Given the description of an element on the screen output the (x, y) to click on. 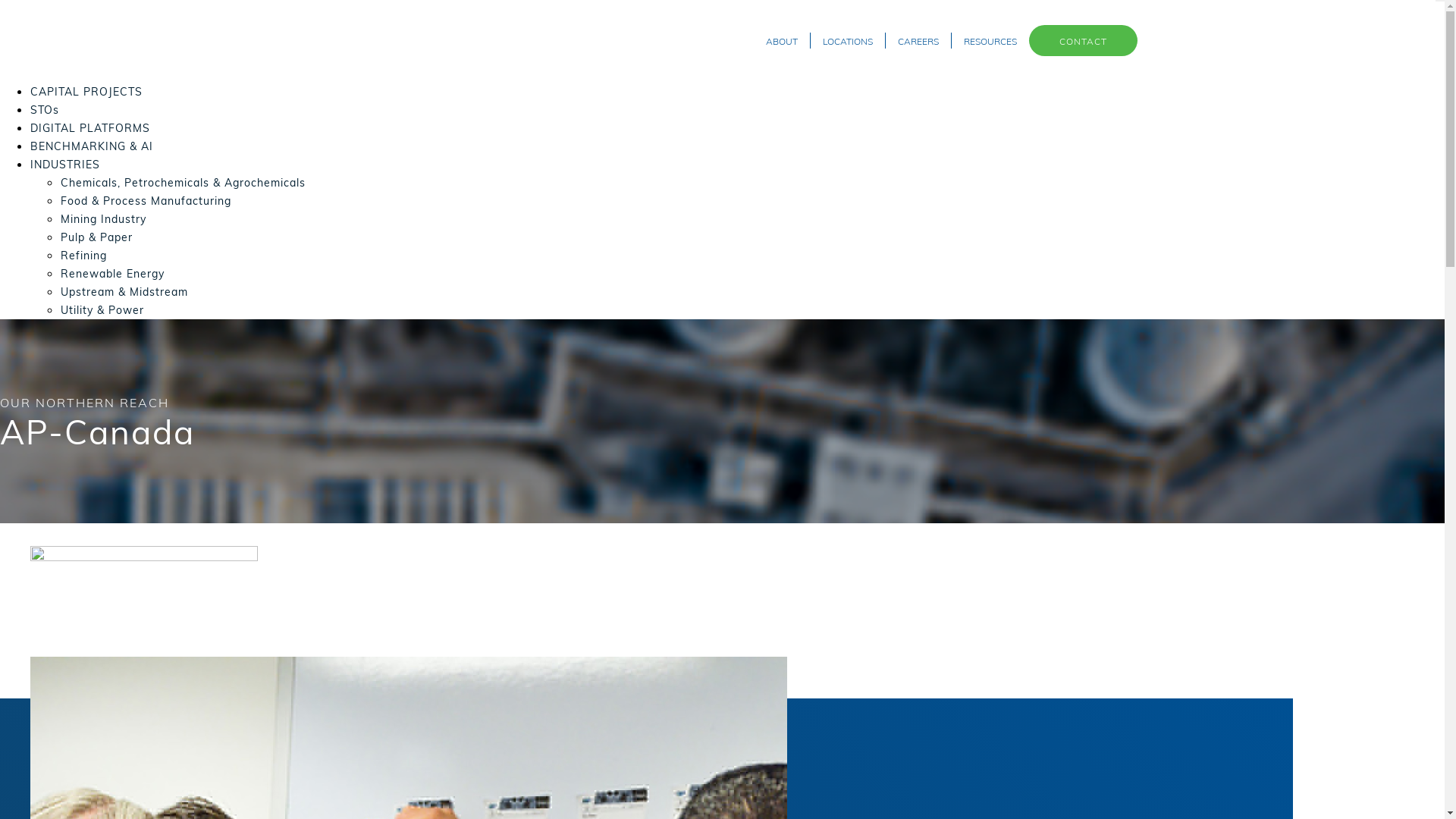
DIGITAL PLATFORMS Element type: text (90, 127)
INDUSTRIES Element type: text (65, 164)
CAPITAL PROJECTS Element type: text (86, 91)
Upstream & Midstream Element type: text (124, 291)
Food & Process Manufacturing Element type: text (145, 200)
Refining Element type: text (83, 255)
LOCATIONS Element type: text (847, 40)
RESOURCES Element type: text (990, 40)
Mining Industry Element type: text (103, 218)
Renewable Energy Element type: text (112, 273)
ABOUT Element type: text (781, 40)
Chemicals, Petrochemicals & Agrochemicals Element type: text (182, 182)
CAREERS Element type: text (918, 40)
Pulp & Paper Element type: text (96, 236)
BENCHMARKING & AI Element type: text (91, 145)
STOs Element type: text (44, 109)
Utility & Power Element type: text (102, 309)
CONTACT Element type: text (1083, 40)
